Given the description of an element on the screen output the (x, y) to click on. 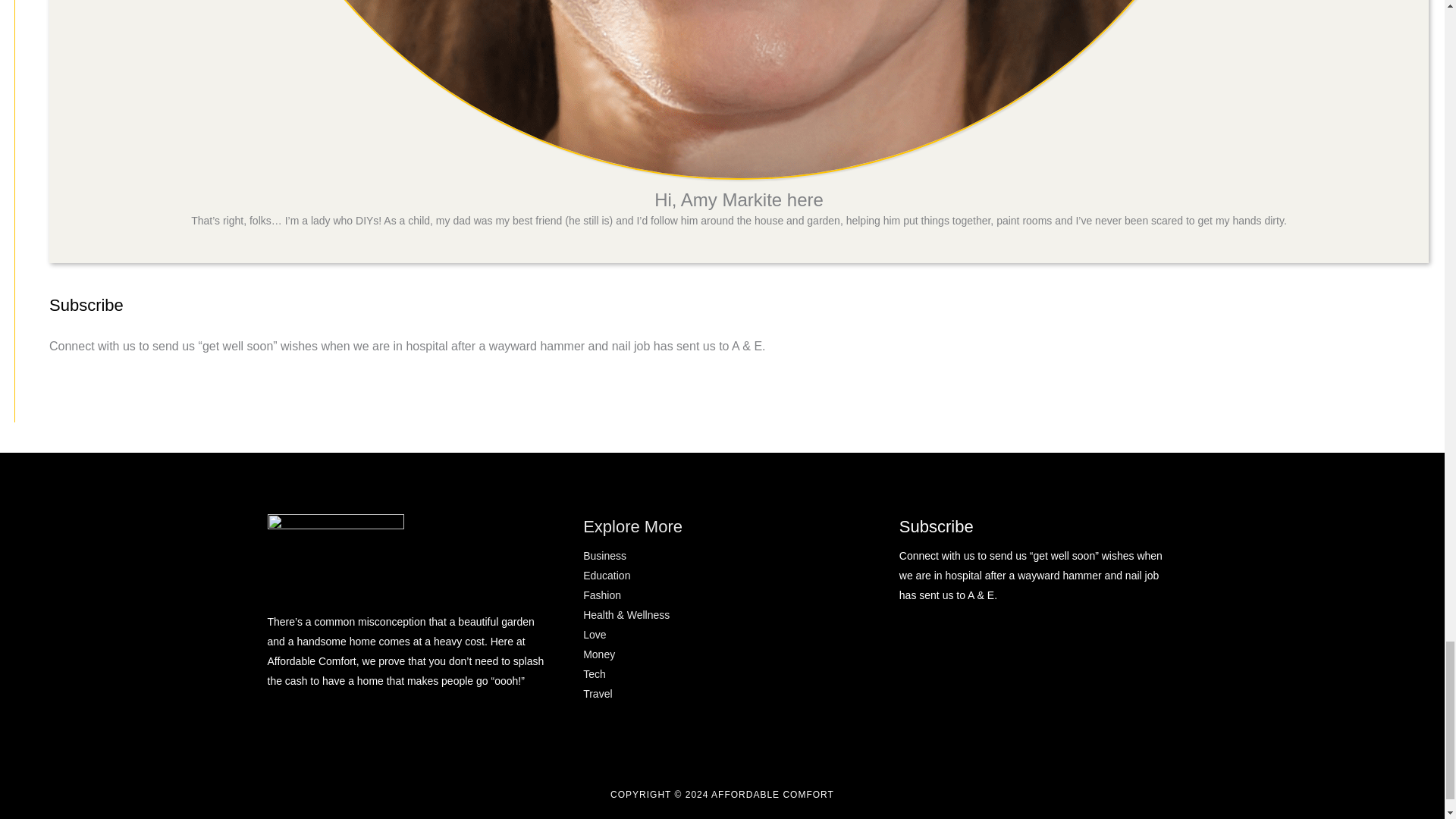
Education (606, 575)
Fashion (602, 594)
Business (604, 555)
